Given the description of an element on the screen output the (x, y) to click on. 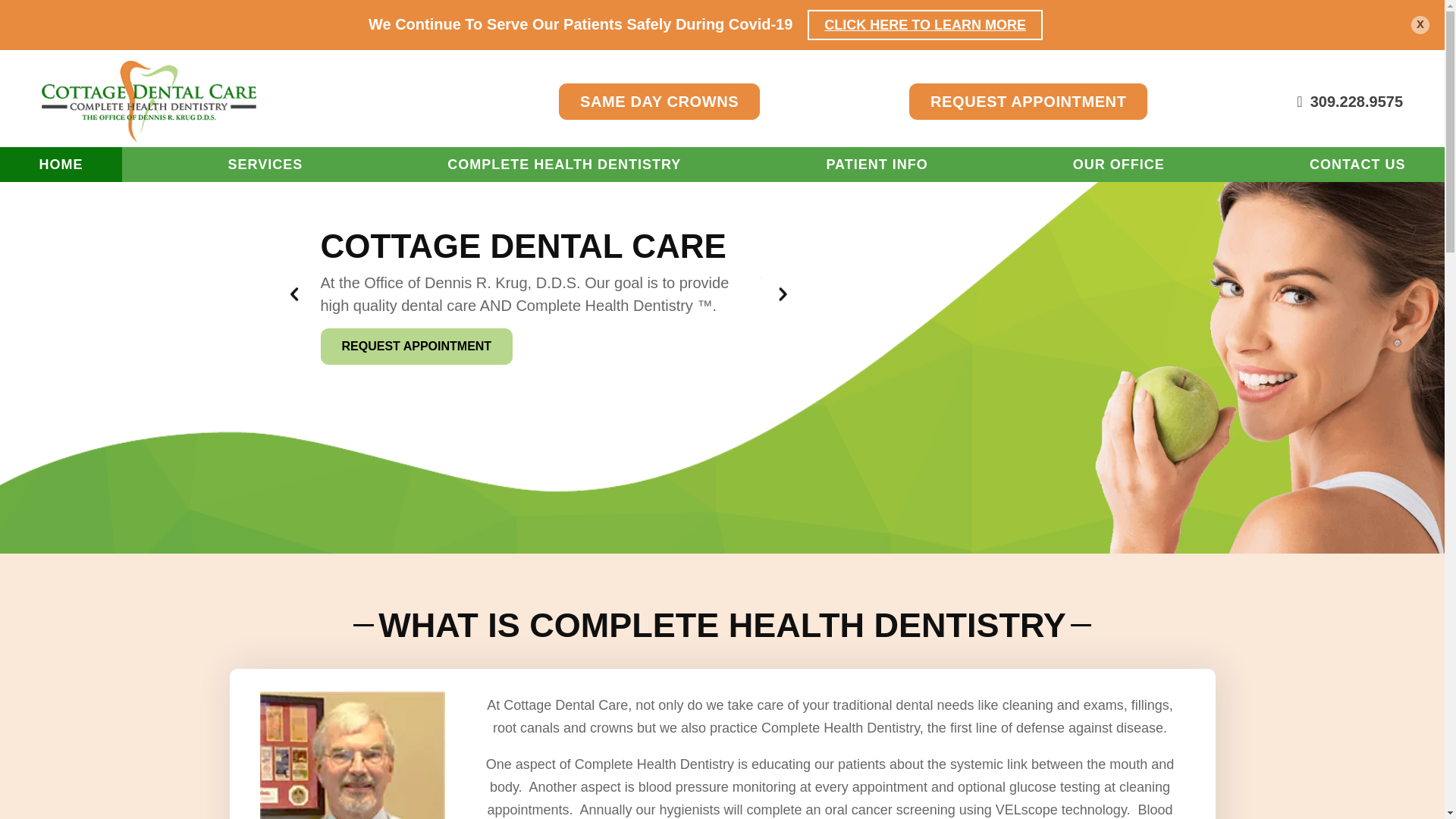
309.228.9575 (1350, 101)
CLICK HERE TO LEARN MORE (925, 24)
SAME DAY CROWNS (659, 101)
NEXT (782, 294)
SERVICES (264, 164)
COMPLETE HEALTH DENTISTRY (564, 164)
PATIENT INFO (876, 164)
REQUEST APPOINTMENT (1027, 101)
PREVIOUS (294, 294)
OUR OFFICE (1118, 164)
REQUEST APPOINTMENT (416, 346)
HOME (61, 164)
